Given the description of an element on the screen output the (x, y) to click on. 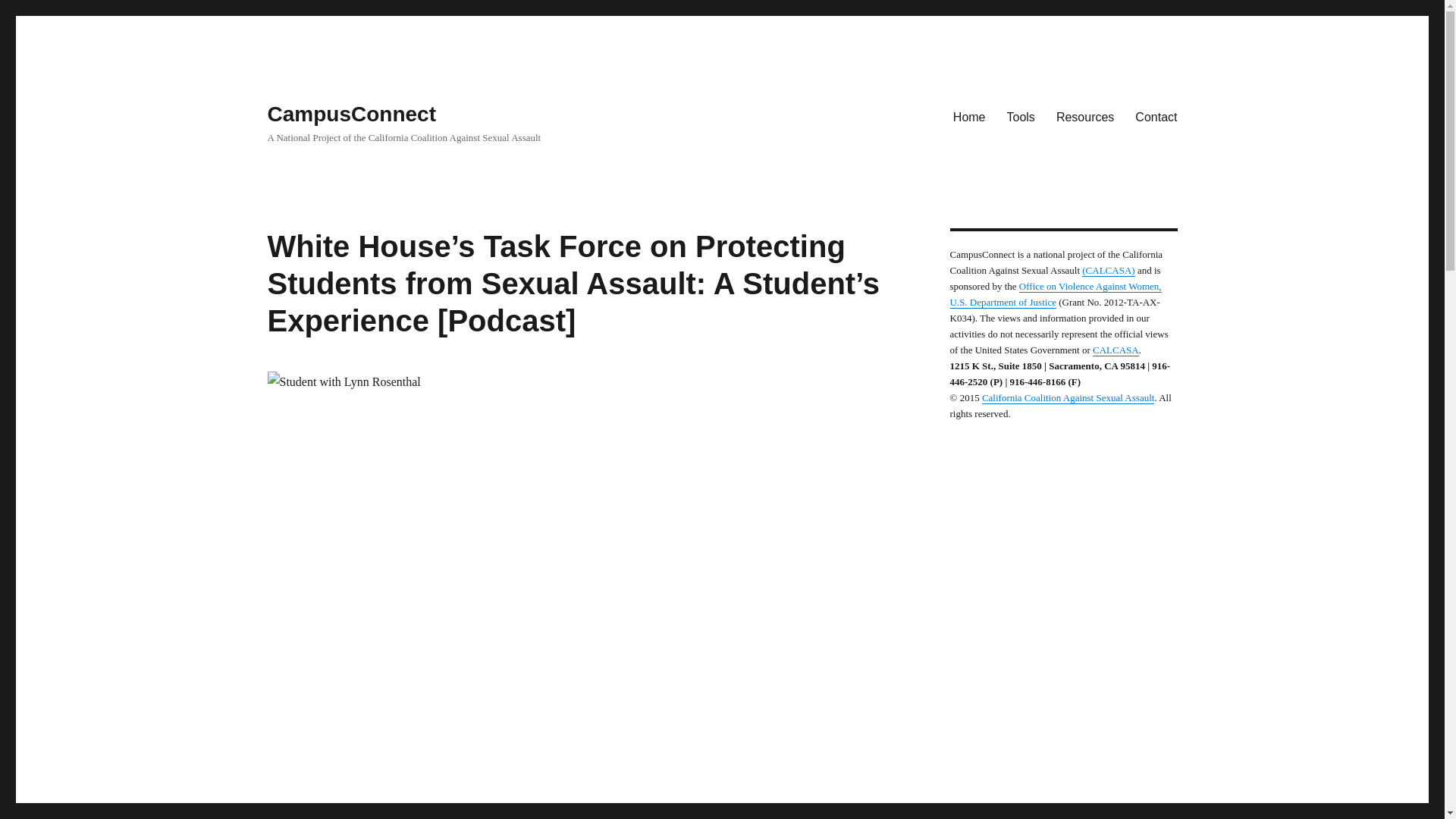
Resources (1084, 116)
Office on Violence Against Women, U.S. Department of Justice (1054, 293)
California Coalition Against Sexual Assault (1067, 397)
Contact (1156, 116)
Home (968, 116)
Tools (1020, 116)
CALCASA (1115, 349)
CampusConnect (350, 114)
